Given the description of an element on the screen output the (x, y) to click on. 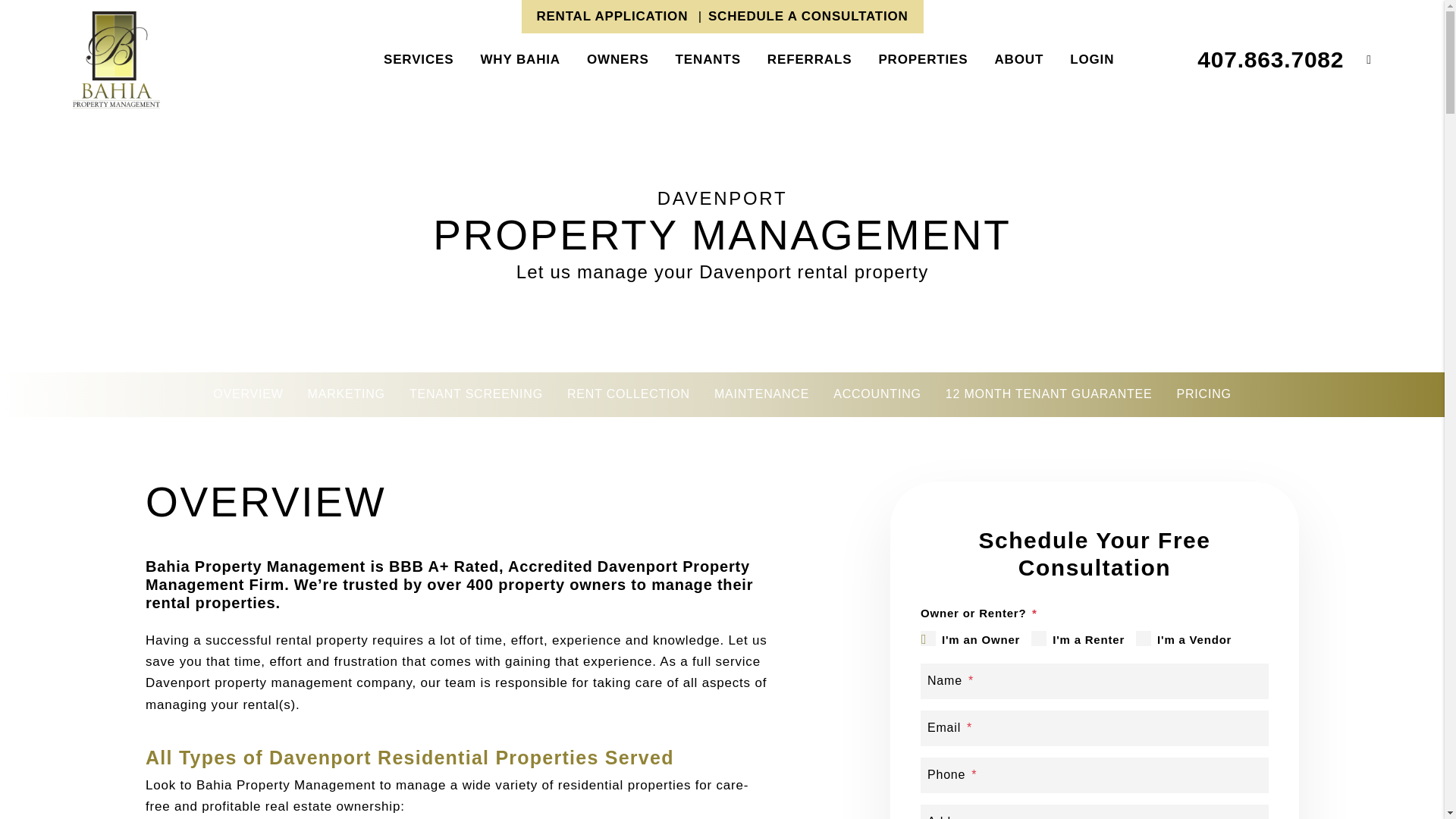
PROPERTIES (922, 59)
TENANTS (708, 59)
ABOUT (1018, 59)
email (1357, 59)
opens in new window (611, 16)
407.863.7082 (1269, 59)
RENTAL APPLICATION (611, 16)
WHY BAHIA (520, 59)
REFERRALS (809, 59)
SCHEDULE A CONSULTATION (807, 16)
